Given the description of an element on the screen output the (x, y) to click on. 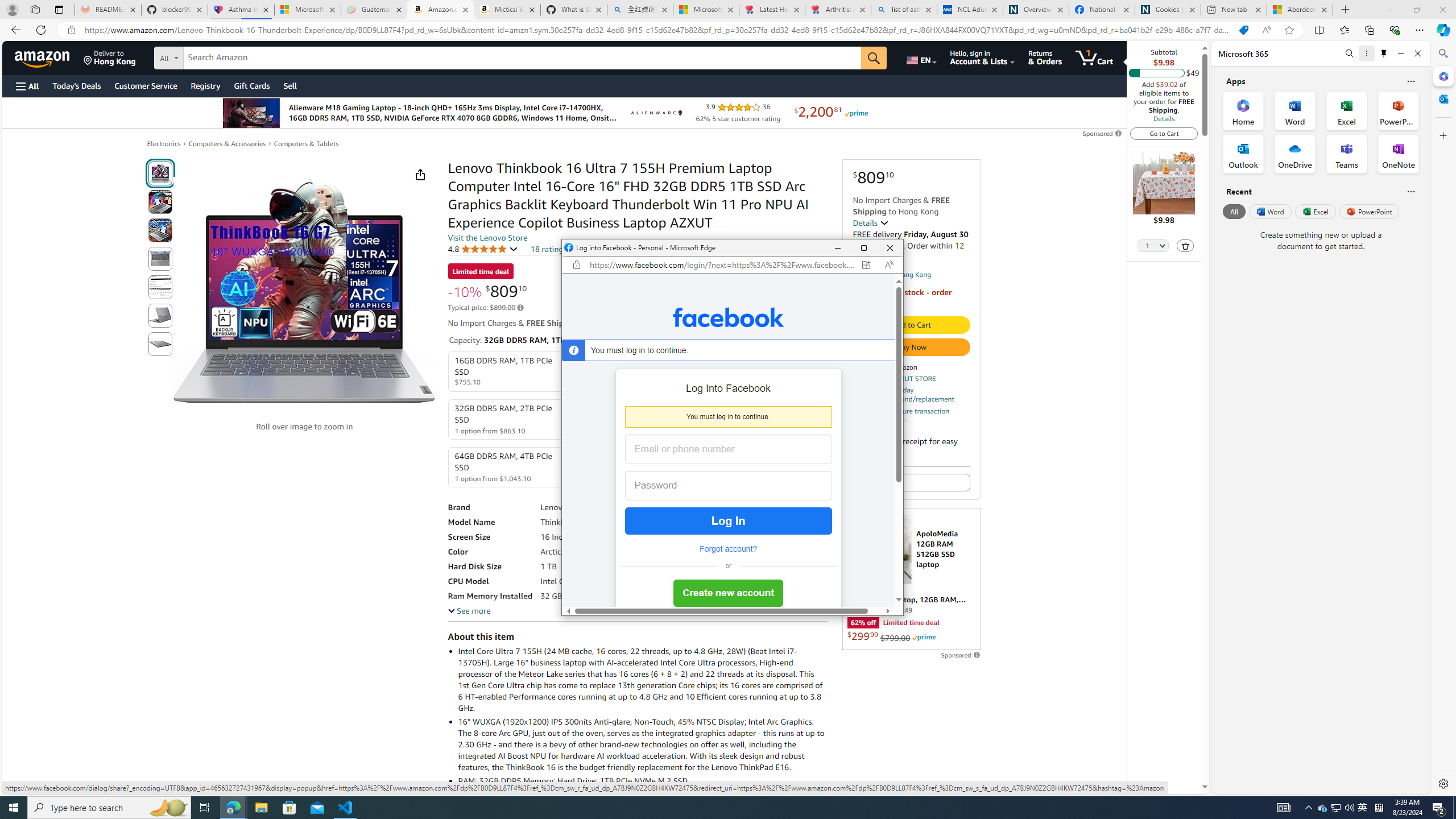
PowerPoint (1369, 210)
Quantity Selector (1153, 246)
Customer Service (145, 85)
OneNote Office App (1398, 154)
Computers & Tablets (306, 143)
Visit the Lenovo Store (486, 237)
